Given the description of an element on the screen output the (x, y) to click on. 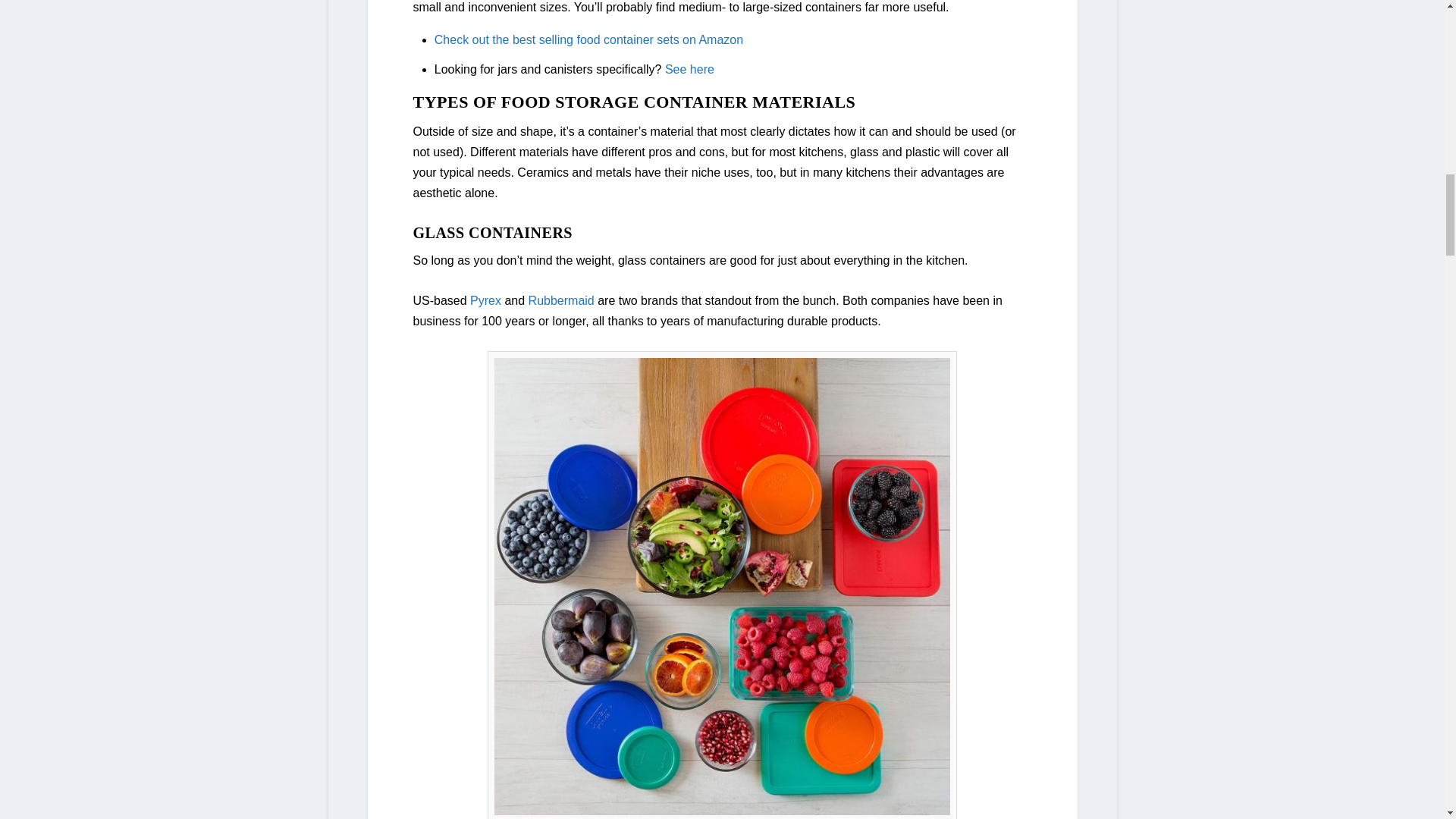
Pyrex (485, 300)
Check out the best selling food container sets on Amazon (587, 39)
Rubbermaid (561, 300)
See here (689, 69)
